Given the description of an element on the screen output the (x, y) to click on. 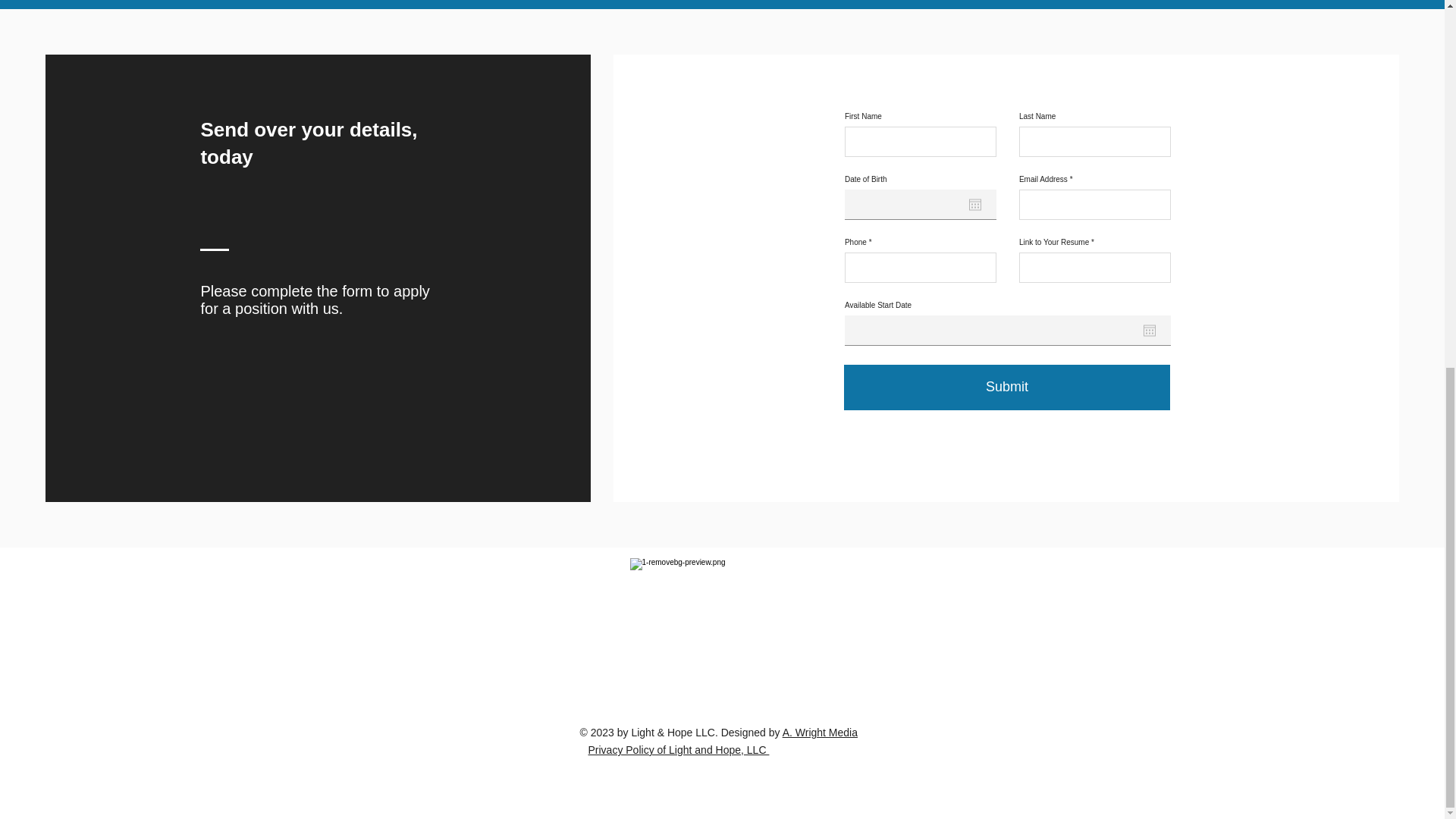
A. Wright Media (820, 732)
Submit (1007, 387)
Privacy Policy of Light and Hope, LLC  (679, 749)
